Given the description of an element on the screen output the (x, y) to click on. 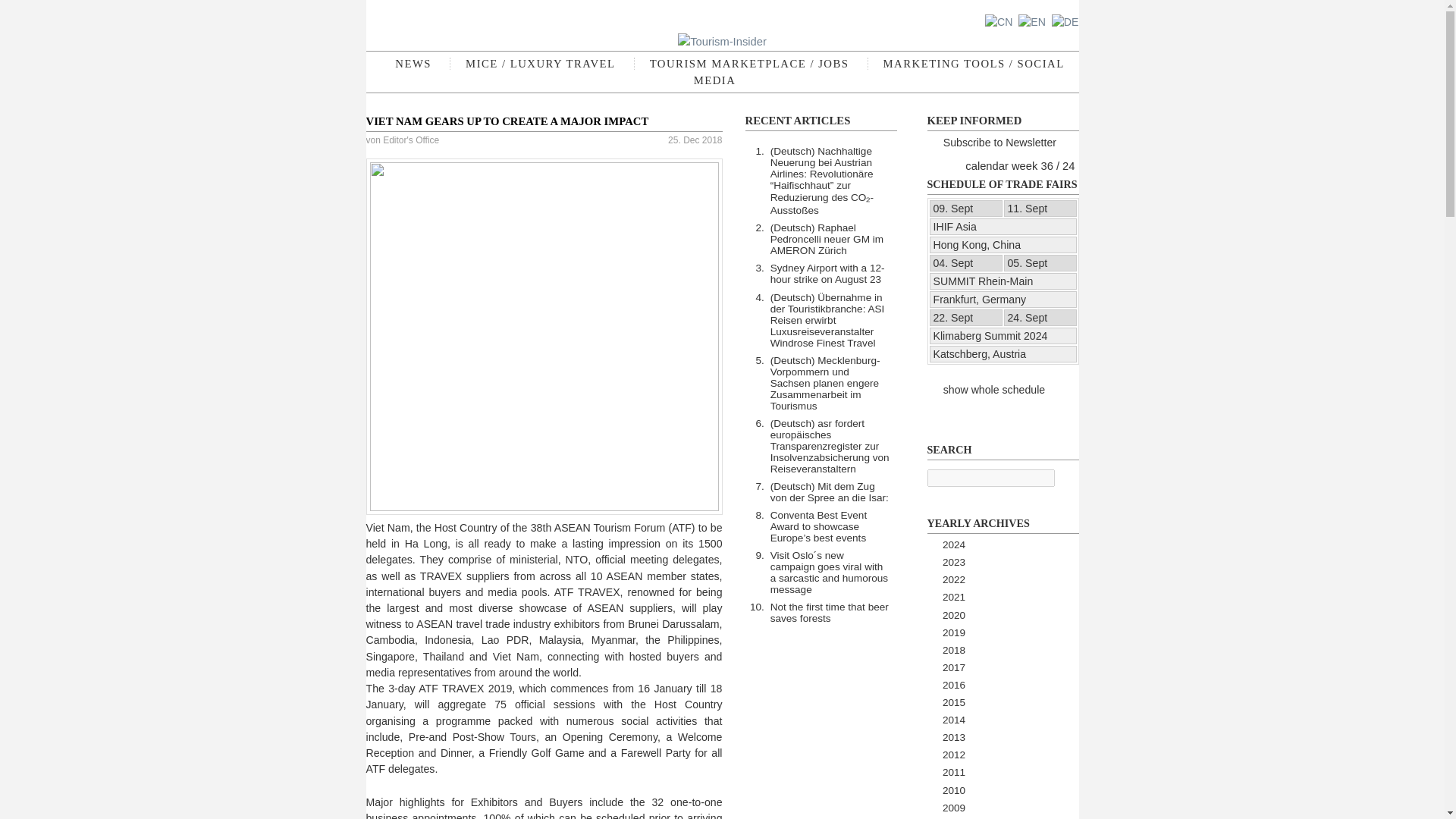
2019 (953, 632)
Read more about current job offers in the industry (749, 63)
2018 (953, 650)
ATF Logo With Text (543, 336)
Tourism-Insider (722, 41)
2016 (953, 685)
All news updates (413, 63)
Sydney Airport with a 12-hour strike on August 23 (827, 273)
2023 (953, 562)
